Given the description of an element on the screen output the (x, y) to click on. 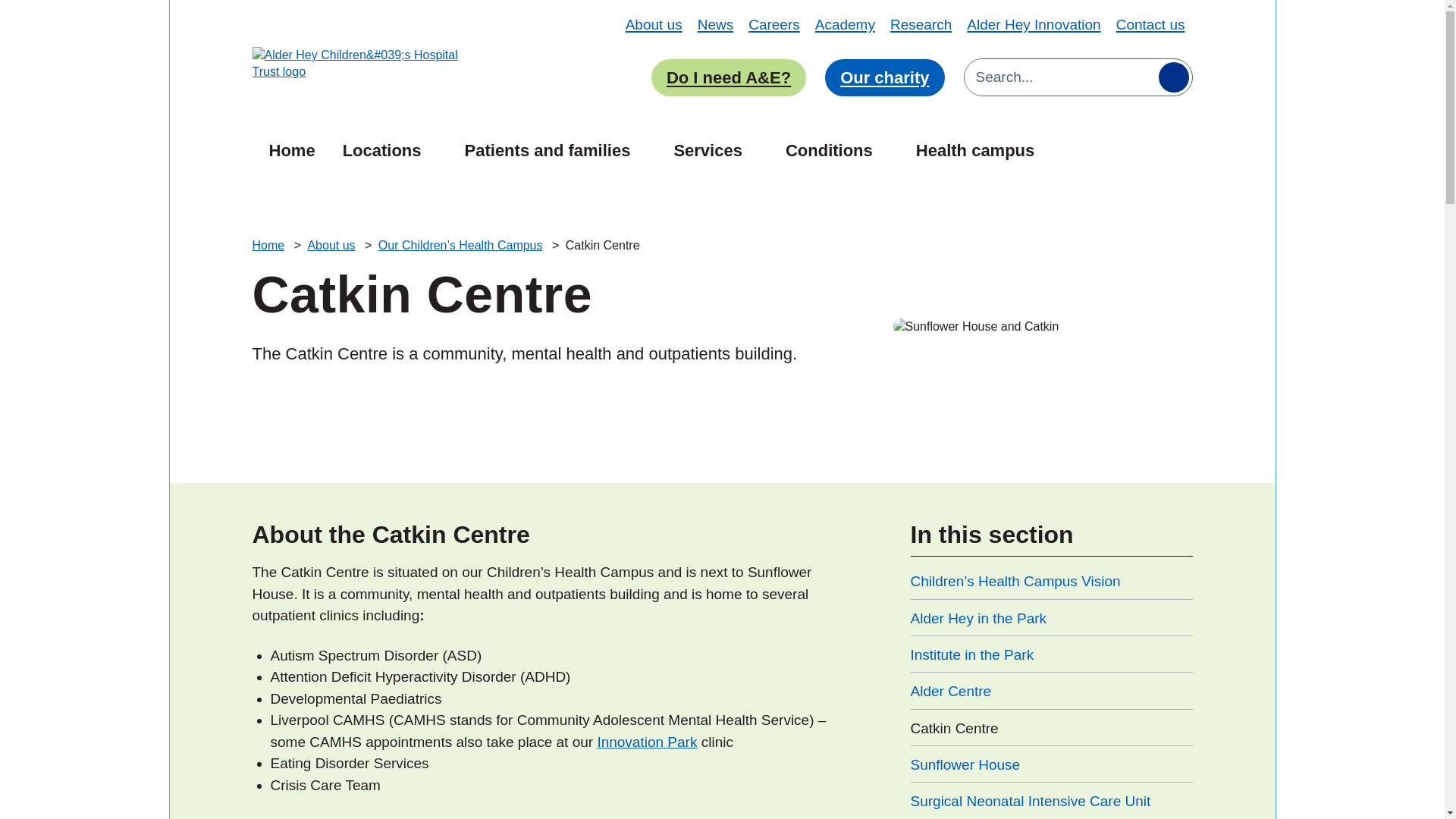
Our charity (884, 77)
About us (654, 24)
Academy (845, 24)
Patients and families (556, 149)
News (715, 24)
Research (920, 24)
Services (715, 149)
Careers (773, 24)
Go to Home. (268, 245)
Locations (390, 149)
Alder Hey Innovation (1033, 24)
Home (290, 149)
Go to About us. (332, 245)
